Given the description of an element on the screen output the (x, y) to click on. 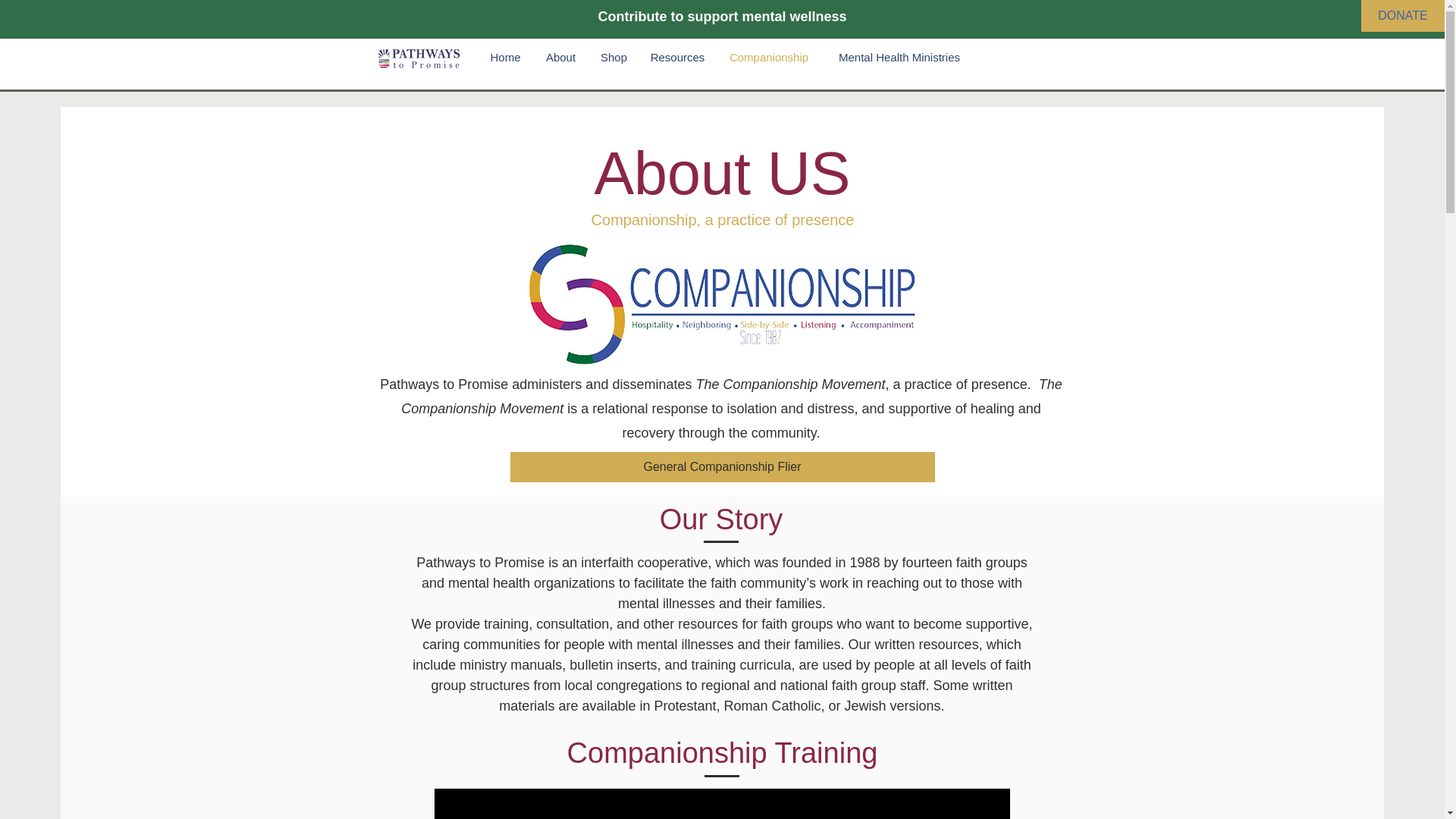
Contribute to support mental wellness (720, 16)
Home (504, 56)
About (560, 56)
Shop (613, 56)
Mental Health Ministries (899, 56)
General Companionship Flier (721, 467)
Resources (677, 56)
Companionship (768, 56)
